Given the description of an element on the screen output the (x, y) to click on. 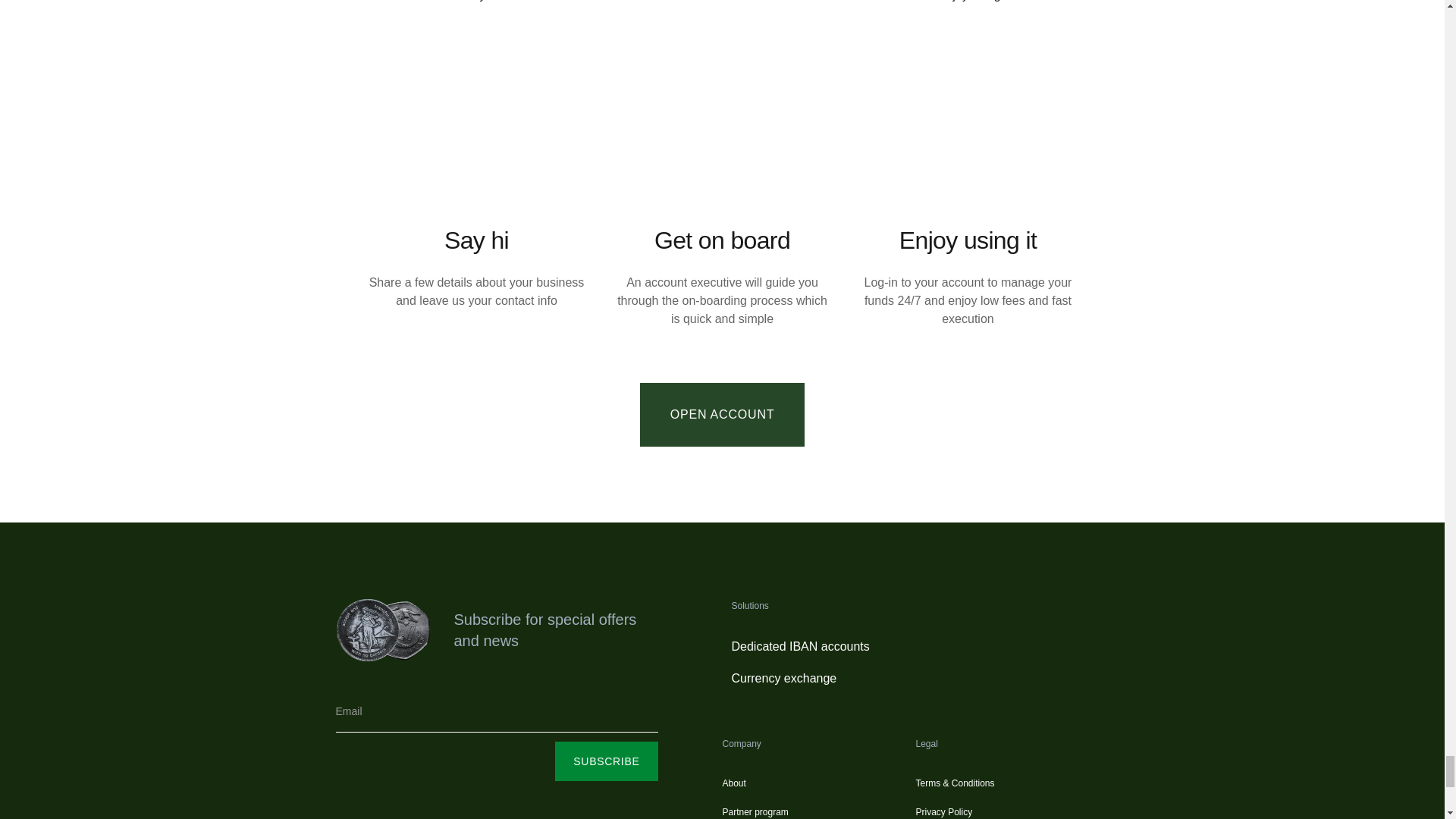
OPEN ACCOUNT (722, 414)
Partner program (754, 811)
About (733, 783)
Subscribe (606, 761)
Currency exchange (782, 677)
Dedicated IBAN accounts (799, 645)
Subscribe (606, 761)
